Given the description of an element on the screen output the (x, y) to click on. 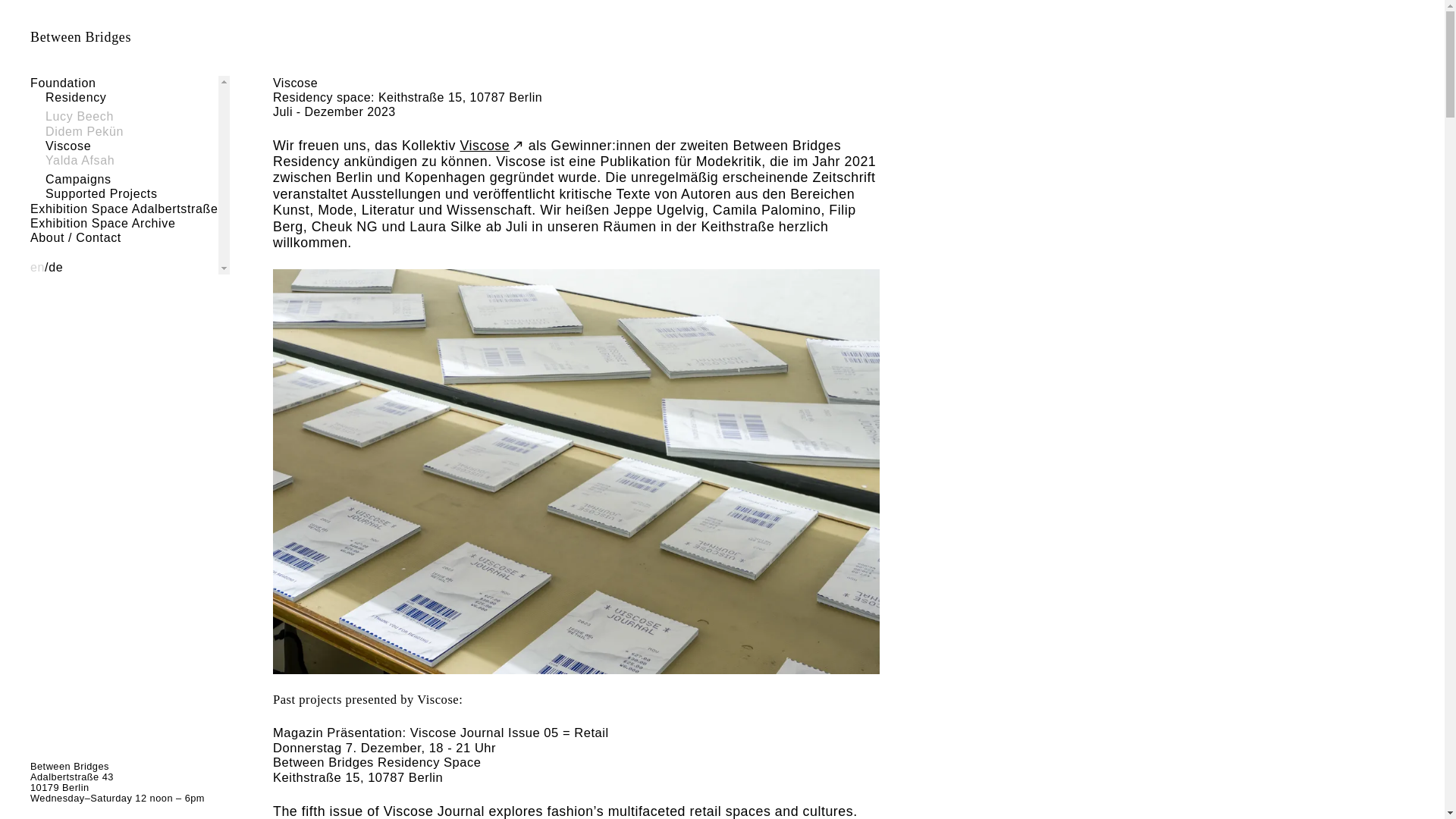
Exhibition Space Archive (102, 223)
Viscose (67, 145)
Campaigns (78, 178)
Yalda Afsah (80, 160)
Lucy Beech (79, 115)
de (55, 267)
Supported Projects (101, 193)
Between Bridges (80, 37)
Residency (75, 97)
en (37, 267)
Viscose (492, 145)
Foundation (63, 83)
